Given the description of an element on the screen output the (x, y) to click on. 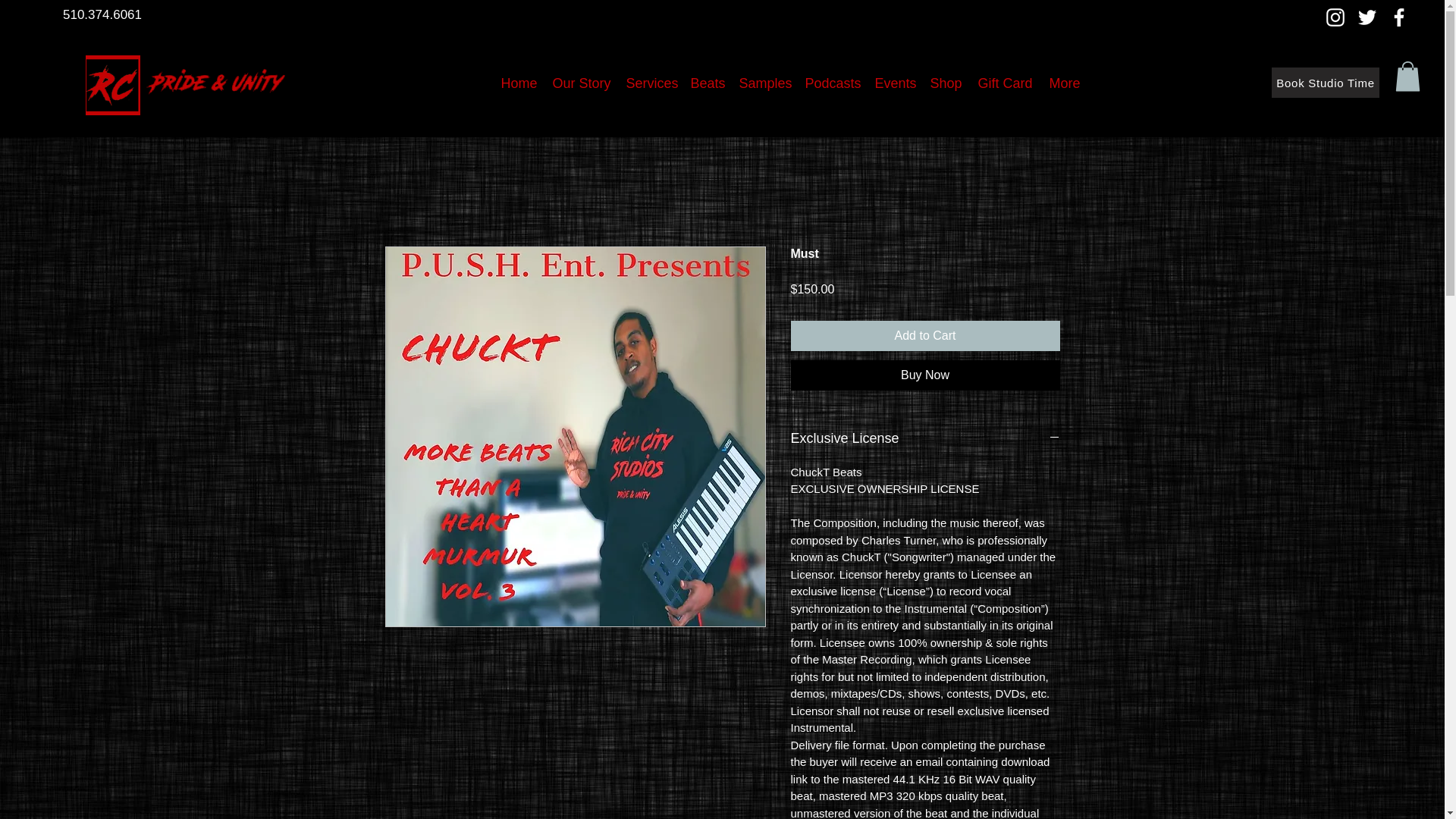
Our Story (580, 83)
Book Studio Time (1324, 82)
Samples (763, 83)
Home (518, 83)
Services (650, 83)
Events (895, 83)
Buy Now (924, 375)
Gift Card (1004, 83)
Add to Cart (924, 336)
Beats (706, 83)
Podcasts (832, 83)
Exclusive License (924, 438)
Shop (945, 83)
